Given the description of an element on the screen output the (x, y) to click on. 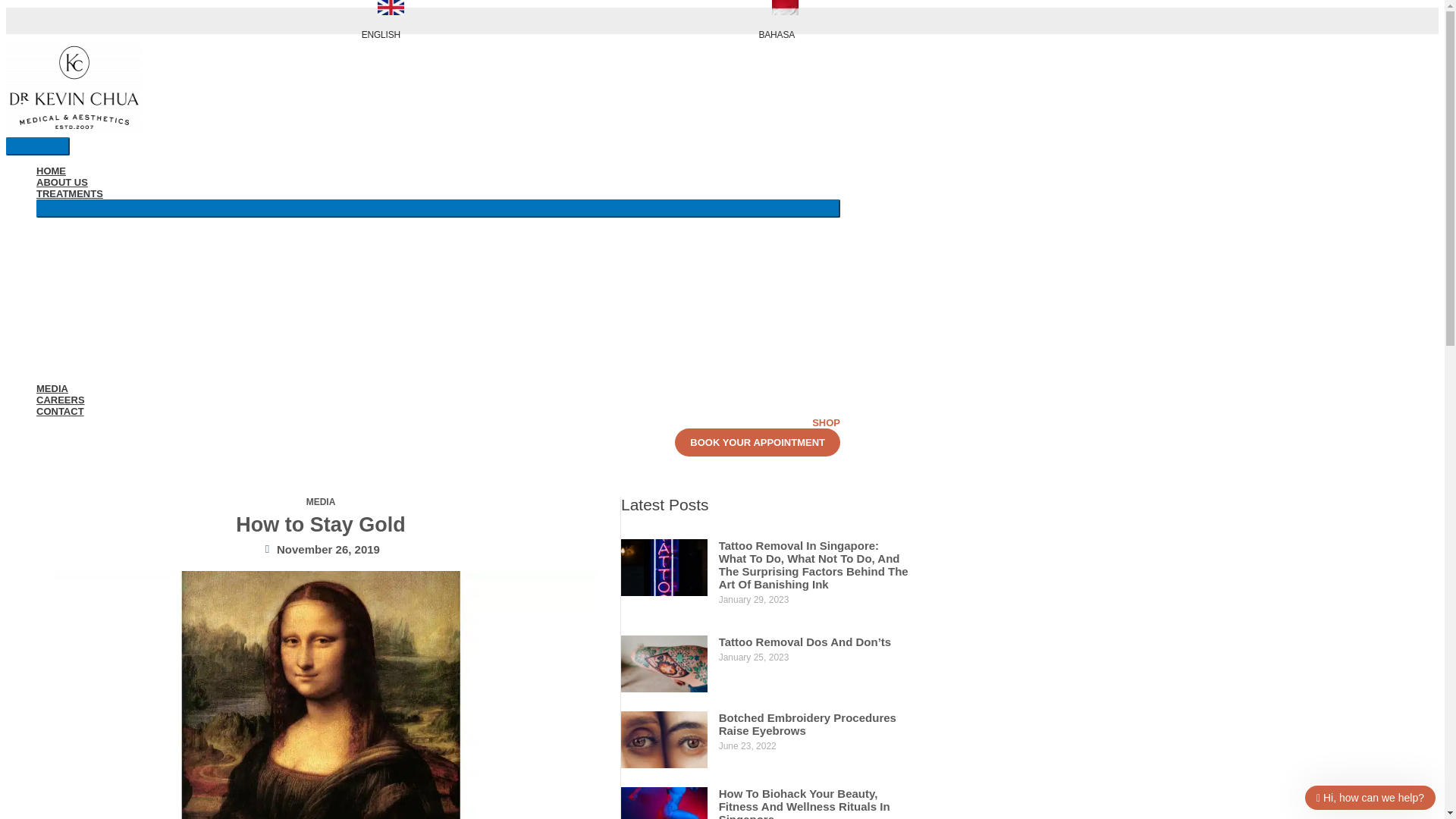
November 26, 2019 (321, 549)
SHOP (826, 422)
MEDIA (320, 501)
CONTACT (438, 410)
ABOUT US (438, 182)
MEDIA (438, 388)
TREATMENTS (438, 193)
BOOK YOUR APPOINTMENT (757, 442)
HOME (438, 170)
CAREERS (438, 399)
